Given the description of an element on the screen output the (x, y) to click on. 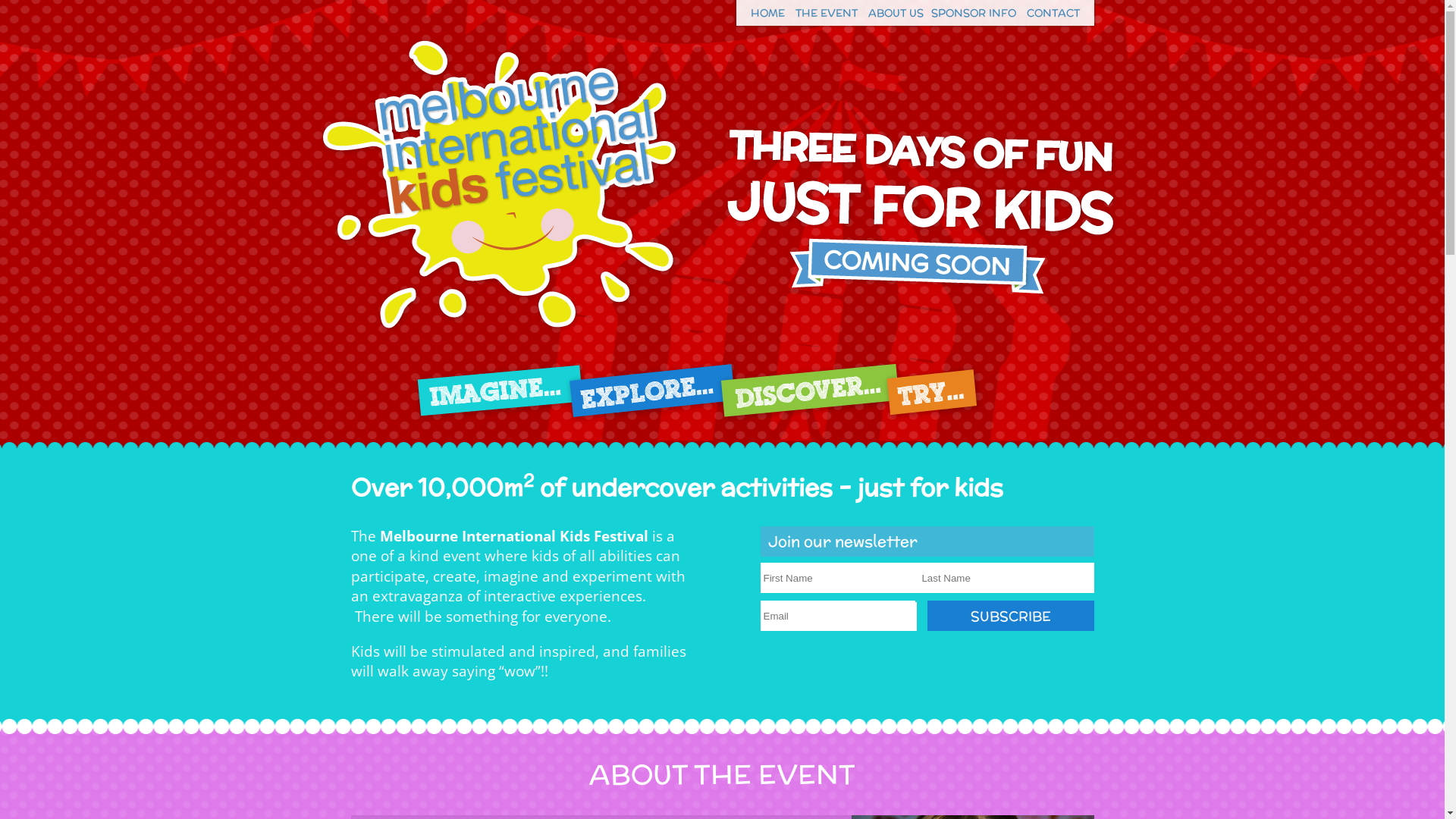
Subscribe Element type: text (1009, 615)
HOME Element type: text (767, 12)
THE EVENT Element type: text (825, 12)
SPONSOR INFO Element type: text (973, 12)
ABOUT US Element type: text (894, 12)
CONTACT Element type: text (1052, 12)
